Given the description of an element on the screen output the (x, y) to click on. 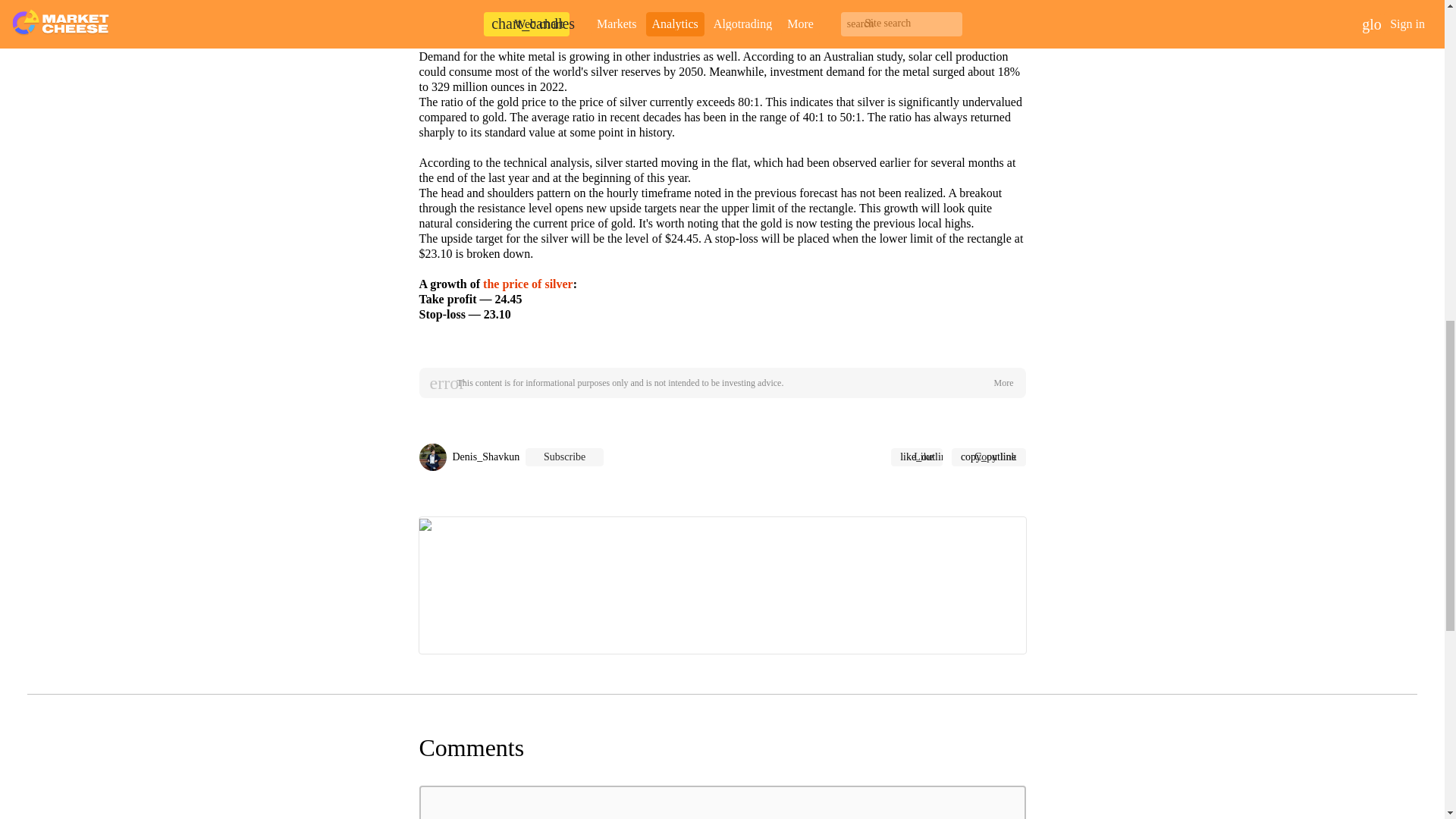
the price of silver (528, 283)
More (1002, 382)
